Given the description of an element on the screen output the (x, y) to click on. 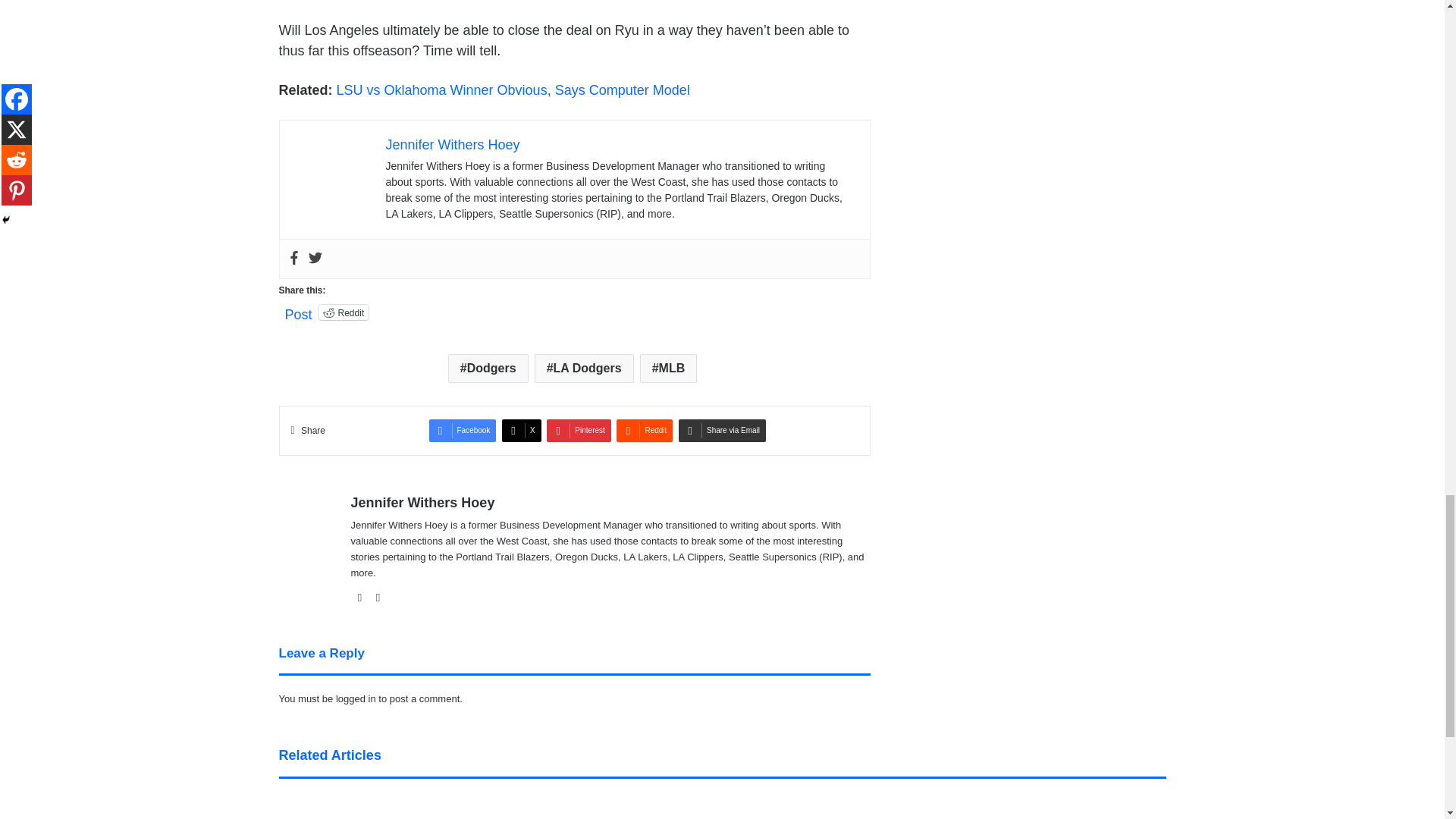
Reddit (343, 312)
Dodgers (488, 368)
Post (299, 311)
Jennifer Withers Hoey (452, 144)
LSU vs Oklahoma Winner Obvious, Says Computer Model (513, 89)
